Given the description of an element on the screen output the (x, y) to click on. 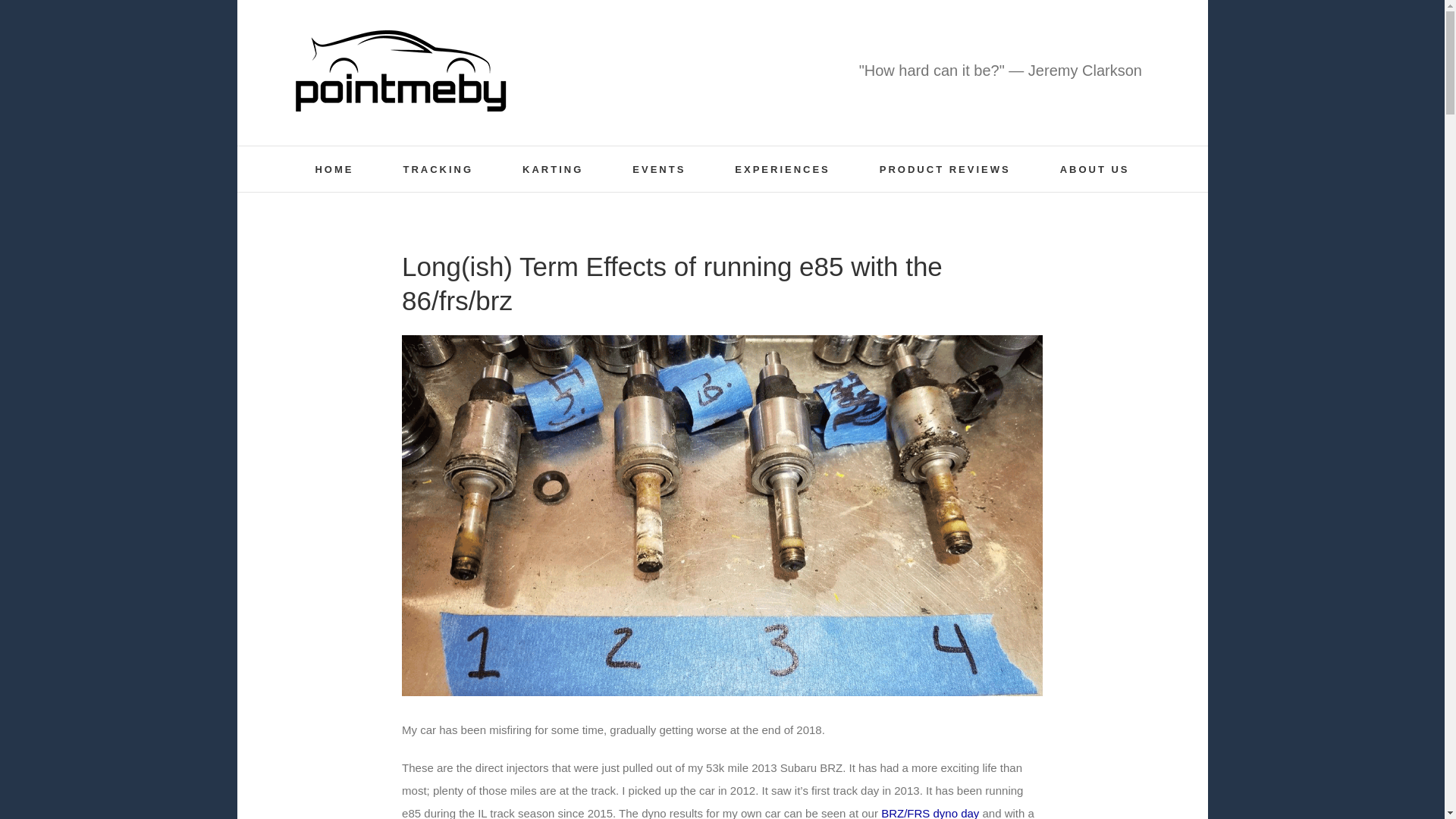
ABOUT US (1094, 168)
TRACKING (438, 168)
EVENTS (658, 168)
KARTING (552, 168)
EXPERIENCES (782, 168)
PRODUCT REVIEWS (944, 168)
